Given the description of an element on the screen output the (x, y) to click on. 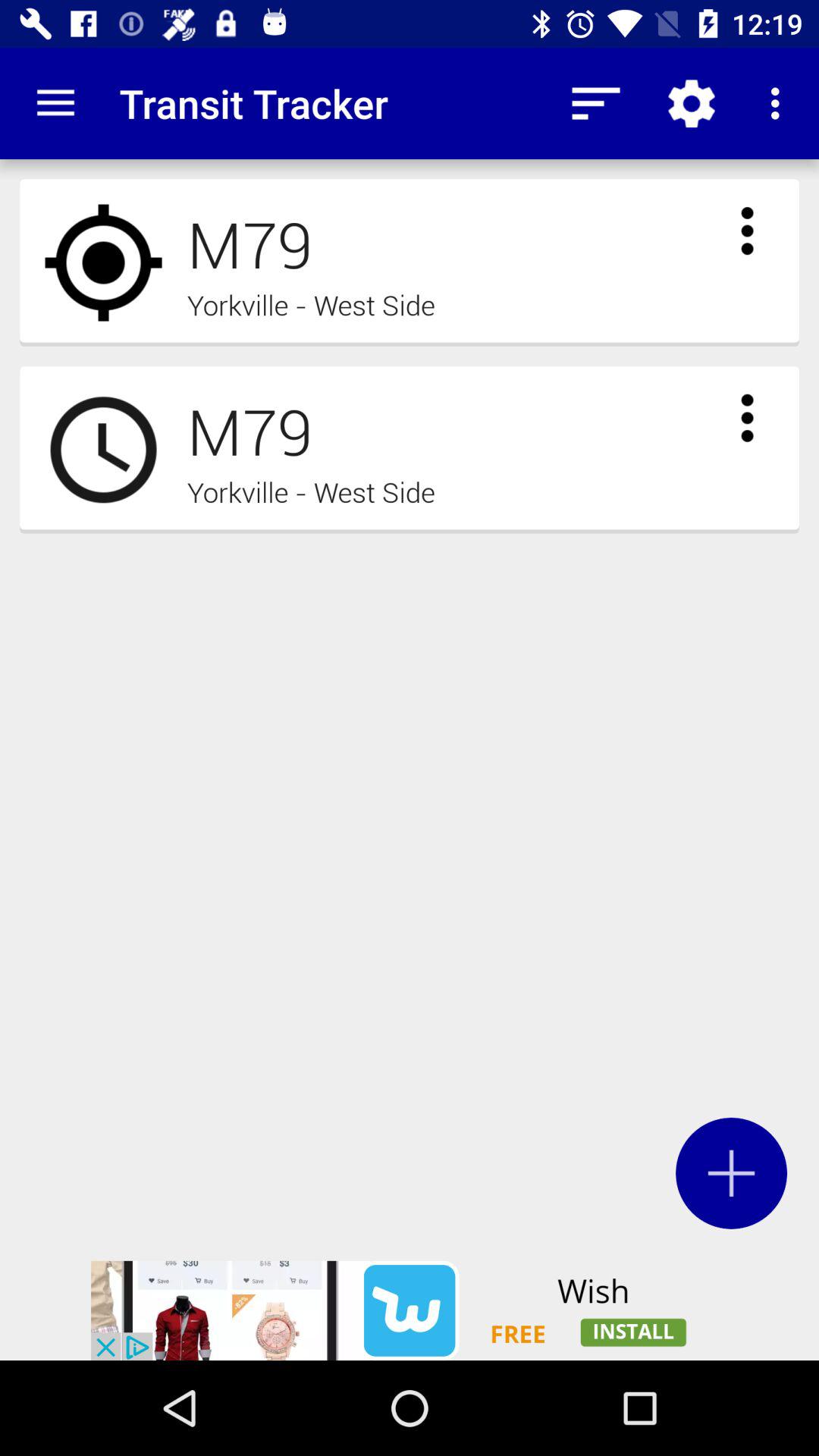
add tracker (731, 1173)
